Given the description of an element on the screen output the (x, y) to click on. 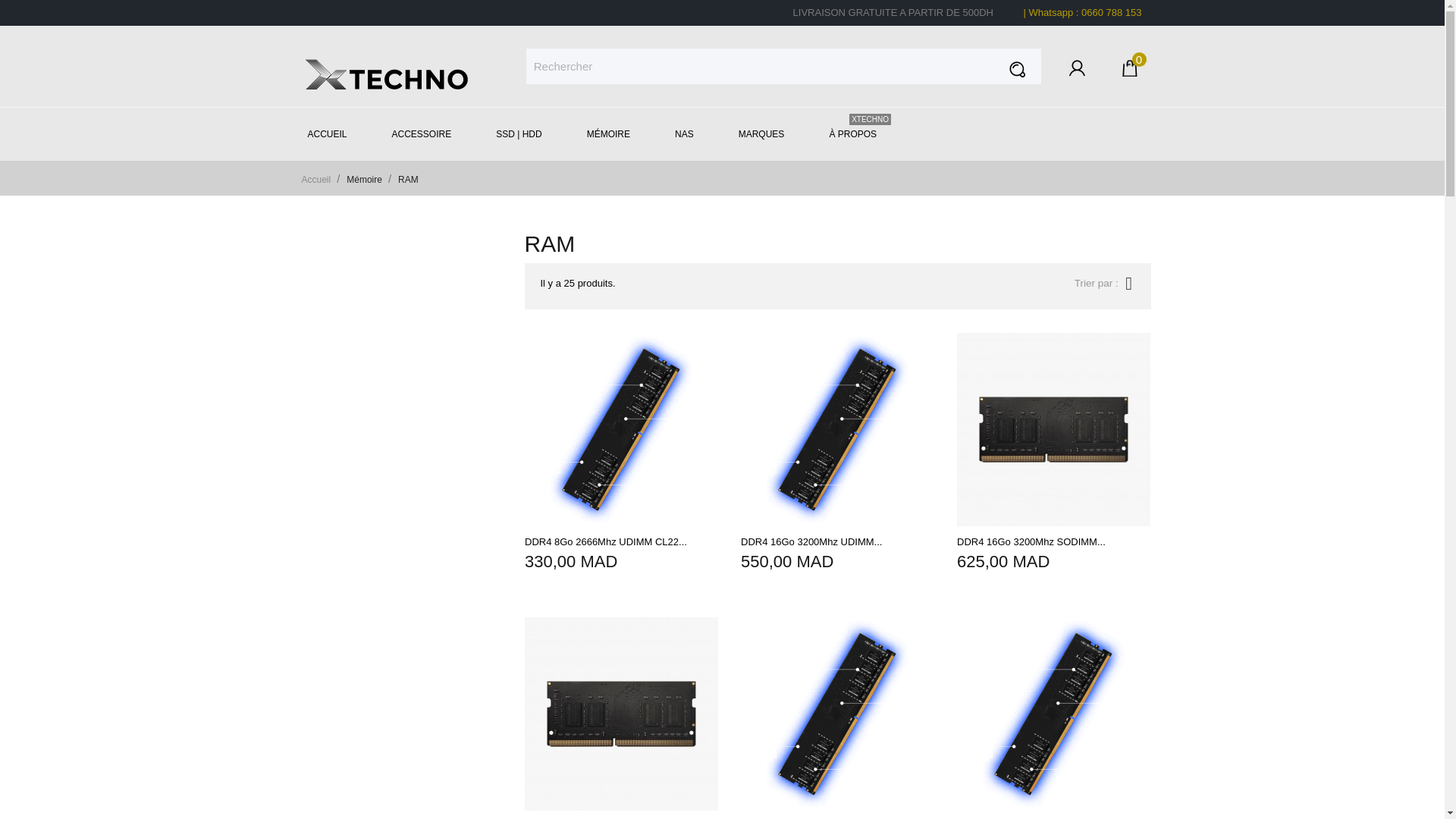
0 (1130, 72)
ACCUEIL (333, 132)
MARQUES (767, 132)
Identifiez-vous (1076, 72)
ACCESSOIRE (427, 132)
